Given the description of an element on the screen output the (x, y) to click on. 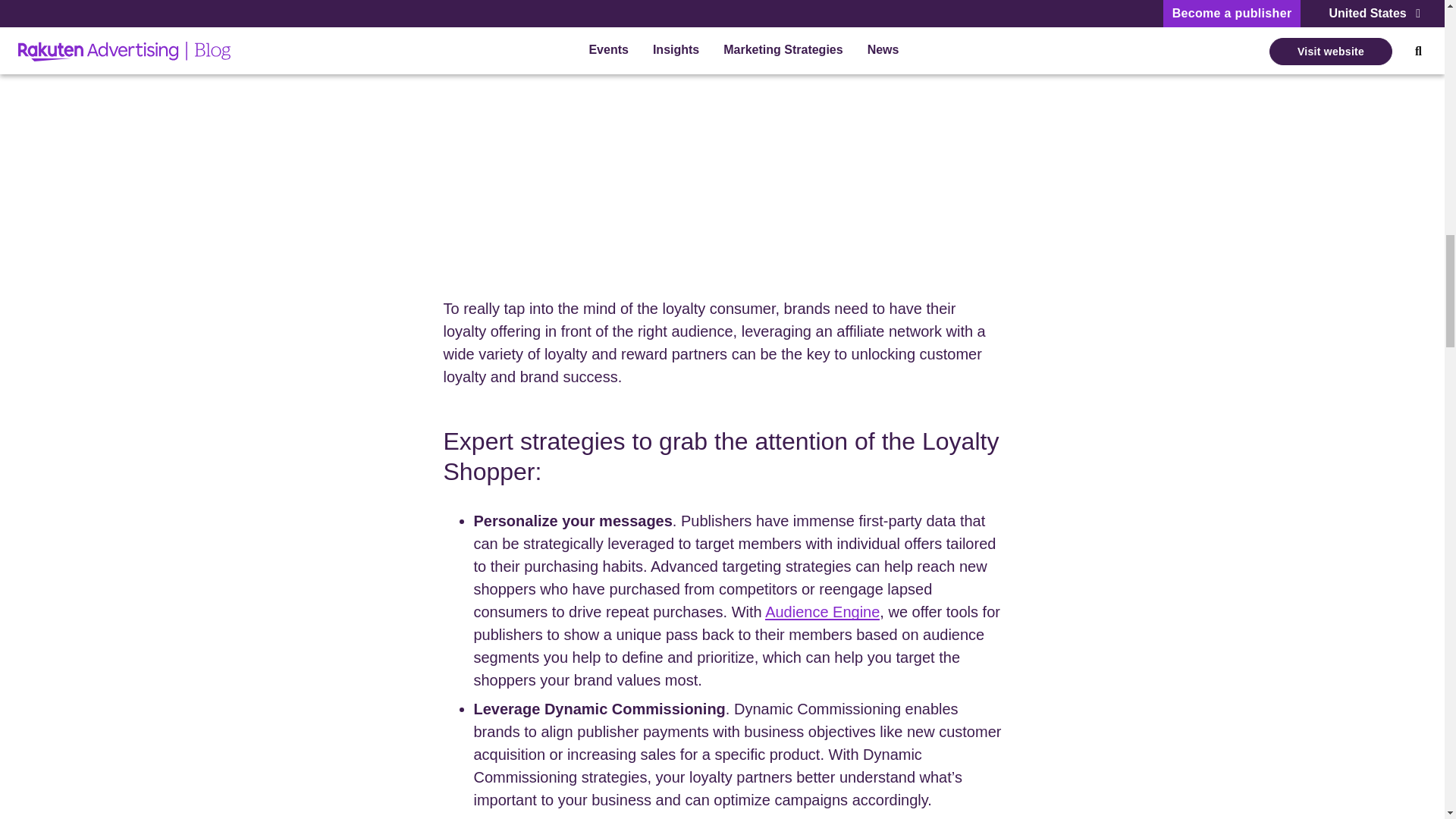
Audience Engine (822, 611)
